Given the description of an element on the screen output the (x, y) to click on. 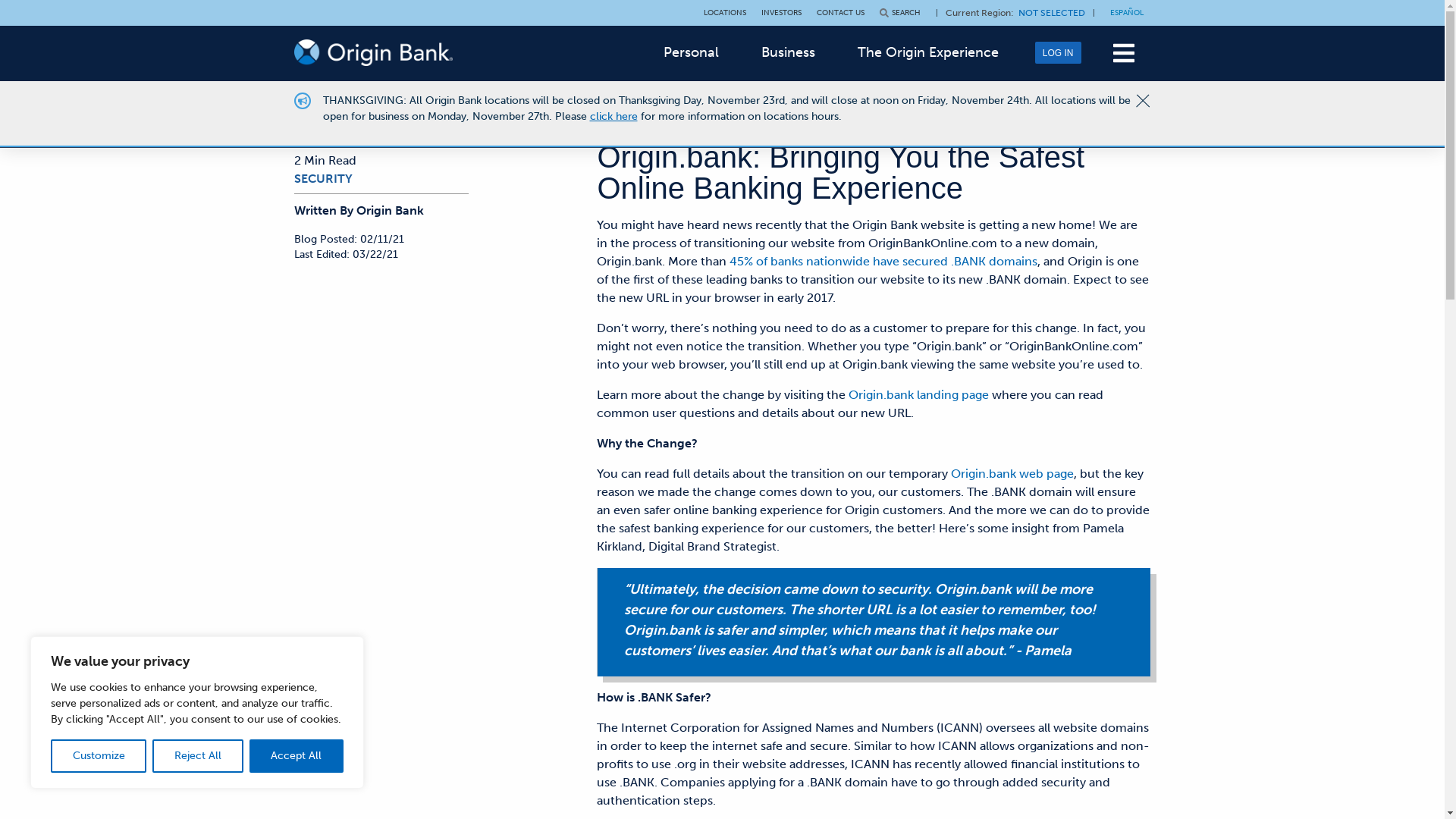
LOG IN Element type: text (1058, 52)
Accept All Element type: text (296, 755)
Origin.bank web page Element type: text (1011, 473)
45% of banks nationwide have secured .BANK domains Element type: text (883, 261)
INVESTORS Element type: text (781, 12)
Reject All Element type: text (197, 755)
Personal Element type: text (690, 51)
Business Element type: text (788, 51)
Customize Element type: text (98, 755)
CONTACT US Element type: text (839, 12)
LOCATIONS Element type: text (724, 12)
Origin.bank landing page Element type: text (918, 394)
SEARCH Element type: text (900, 12)
The Origin Experience Element type: text (927, 51)
click here Element type: text (613, 115)
